Given the description of an element on the screen output the (x, y) to click on. 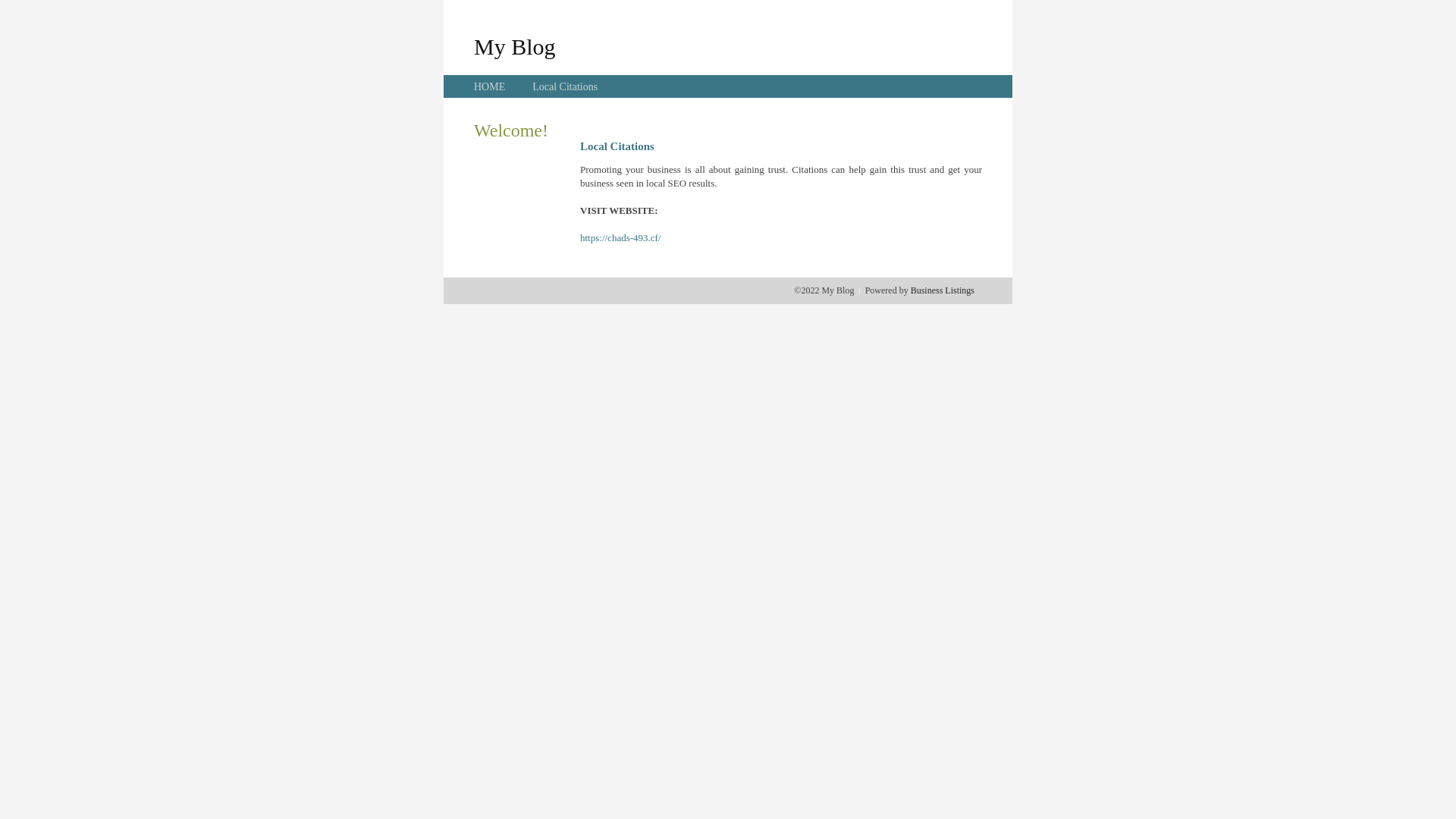
Business Listings Element type: text (942, 290)
HOME Element type: text (489, 86)
My Blog Element type: text (514, 46)
https://chads-493.cf/ Element type: text (620, 237)
Local Citations Element type: text (564, 86)
